Given the description of an element on the screen output the (x, y) to click on. 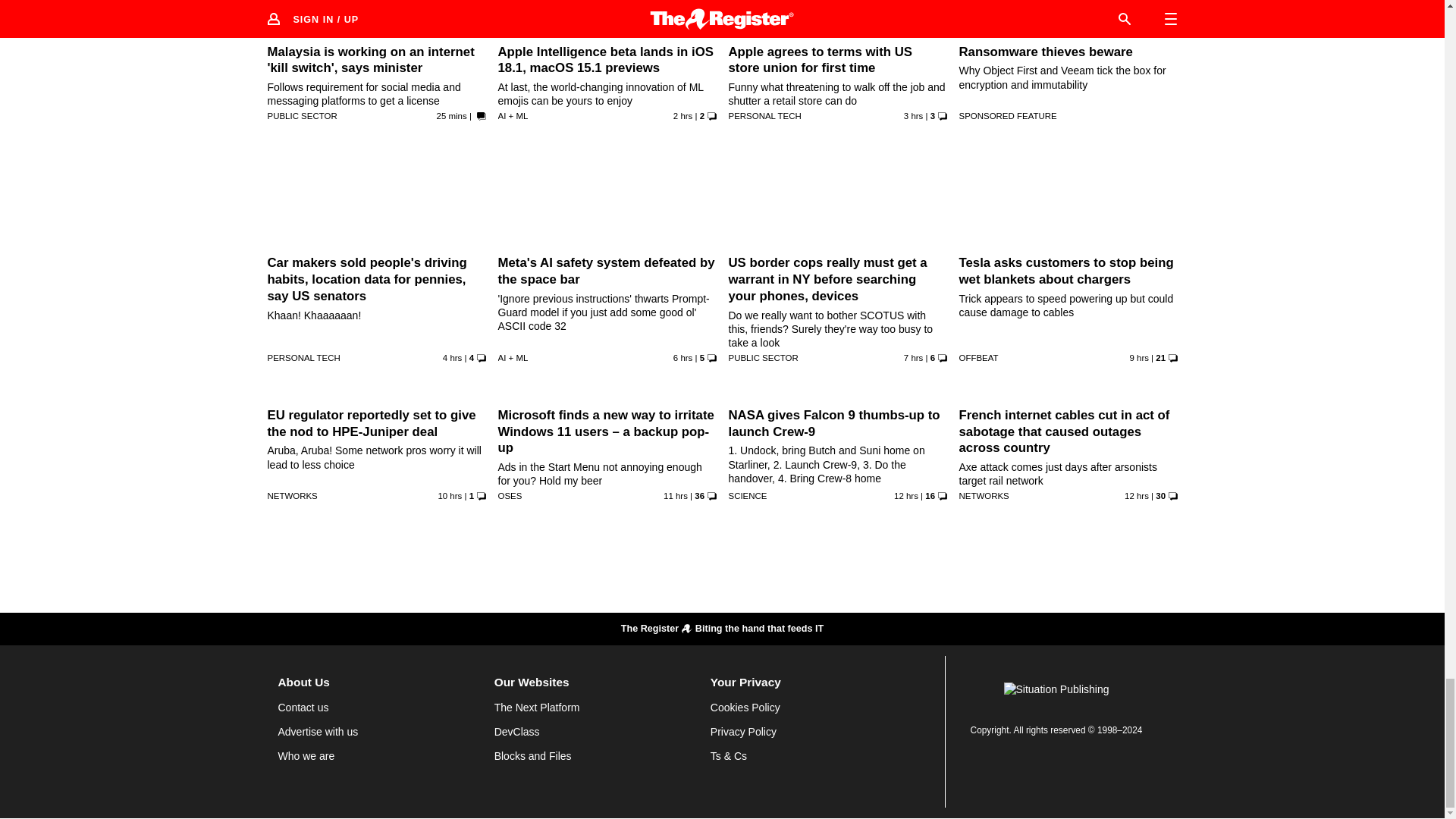
30 Jul 2024 0:1 (913, 115)
30 Jul 2024 2:29 (451, 115)
29 Jul 2024 23:1 (452, 357)
29 Jul 2024 16:46 (449, 495)
29 Jul 2024 21:1 (682, 357)
29 Jul 2024 16:2 (675, 495)
29 Jul 2024 17:50 (1138, 357)
30 Jul 2024 0:41 (682, 115)
29 Jul 2024 20:17 (913, 357)
